Given the description of an element on the screen output the (x, y) to click on. 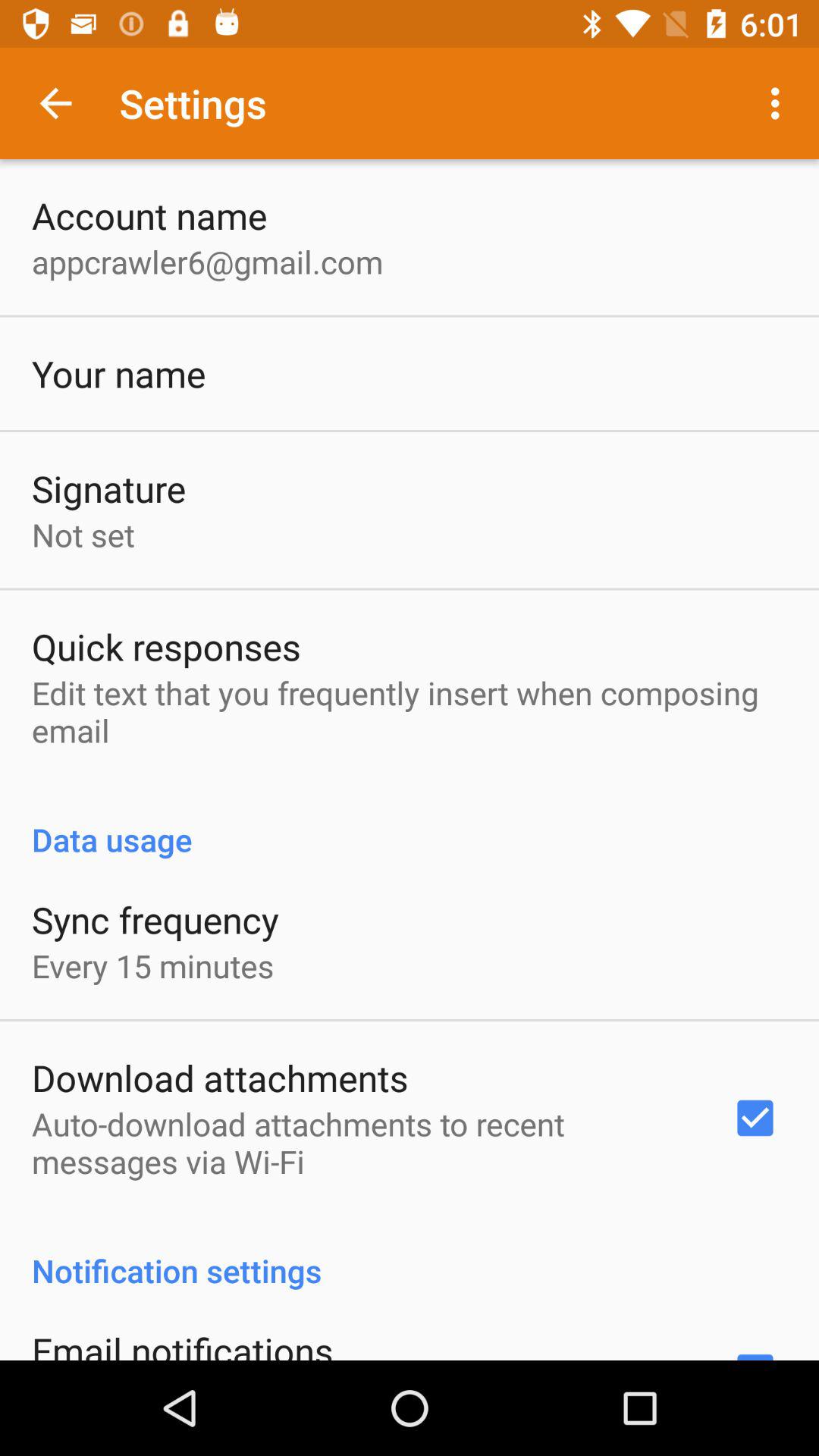
launch the signature app (108, 488)
